Given the description of an element on the screen output the (x, y) to click on. 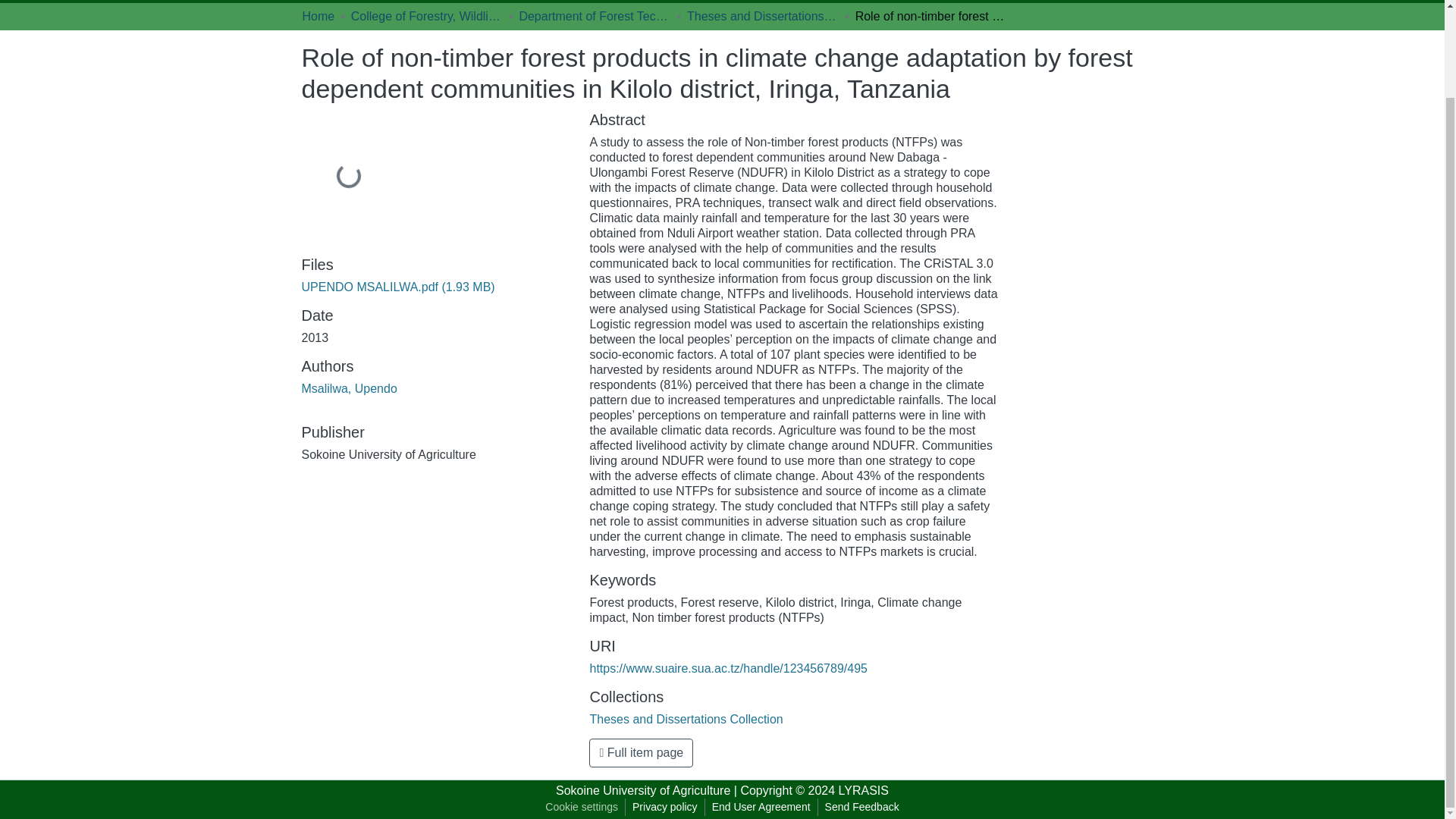
LYRASIS (863, 789)
Department of Forest Technology and Wood Sciences (593, 16)
Msalilwa, Upendo (349, 388)
Theses and Dissertations Collection (762, 16)
College of Forestry, Wildlife and Tourism (426, 16)
End User Agreement (760, 806)
Privacy policy (665, 806)
Theses and Dissertations Collection (686, 718)
Send Feedback (861, 806)
Cookie settings (581, 806)
